Given the description of an element on the screen output the (x, y) to click on. 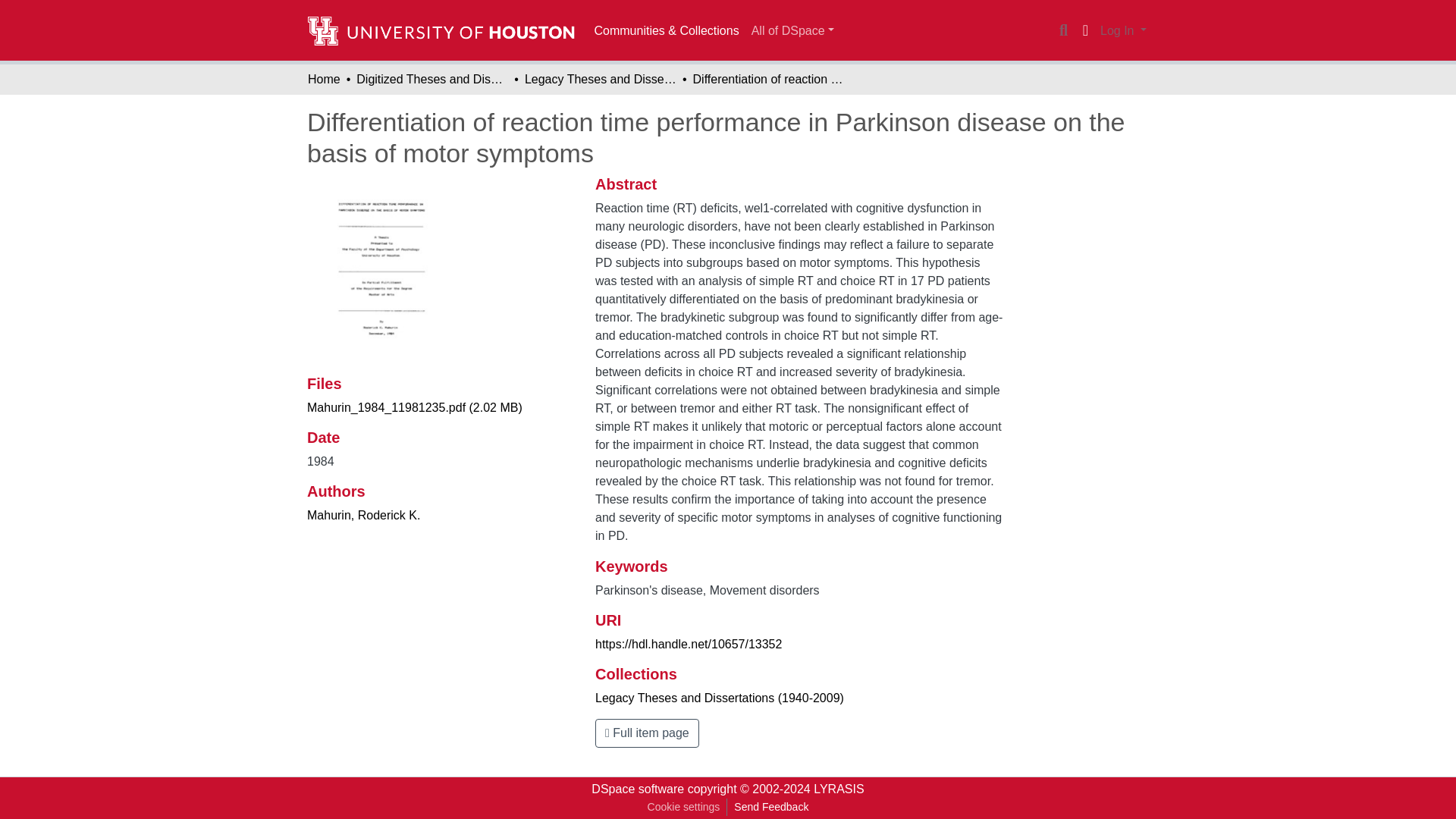
Cookie settings (683, 806)
Search (1063, 30)
LYRASIS (838, 788)
Full item page (646, 733)
All of DSpace (792, 30)
Log In (1122, 30)
Language switch (1084, 30)
Home (323, 79)
DSpace software (637, 788)
Mahurin, Roderick K. (363, 514)
Send Feedback (770, 806)
